Given the description of an element on the screen output the (x, y) to click on. 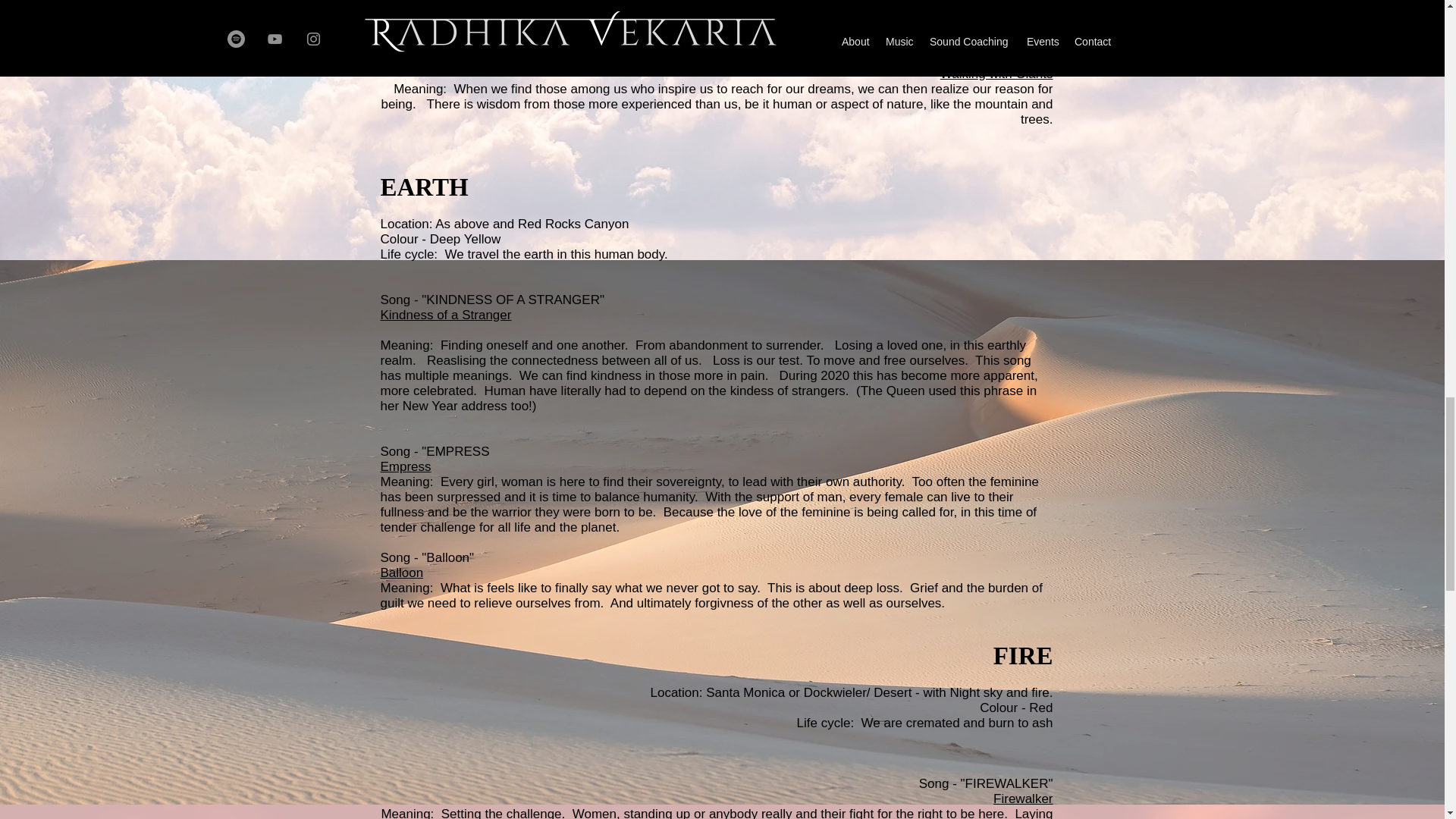
Firewalker (1022, 798)
Walking with Giants (996, 73)
Kindness of a Stranger (446, 314)
Balloon (401, 572)
Empress (405, 466)
